Given the description of an element on the screen output the (x, y) to click on. 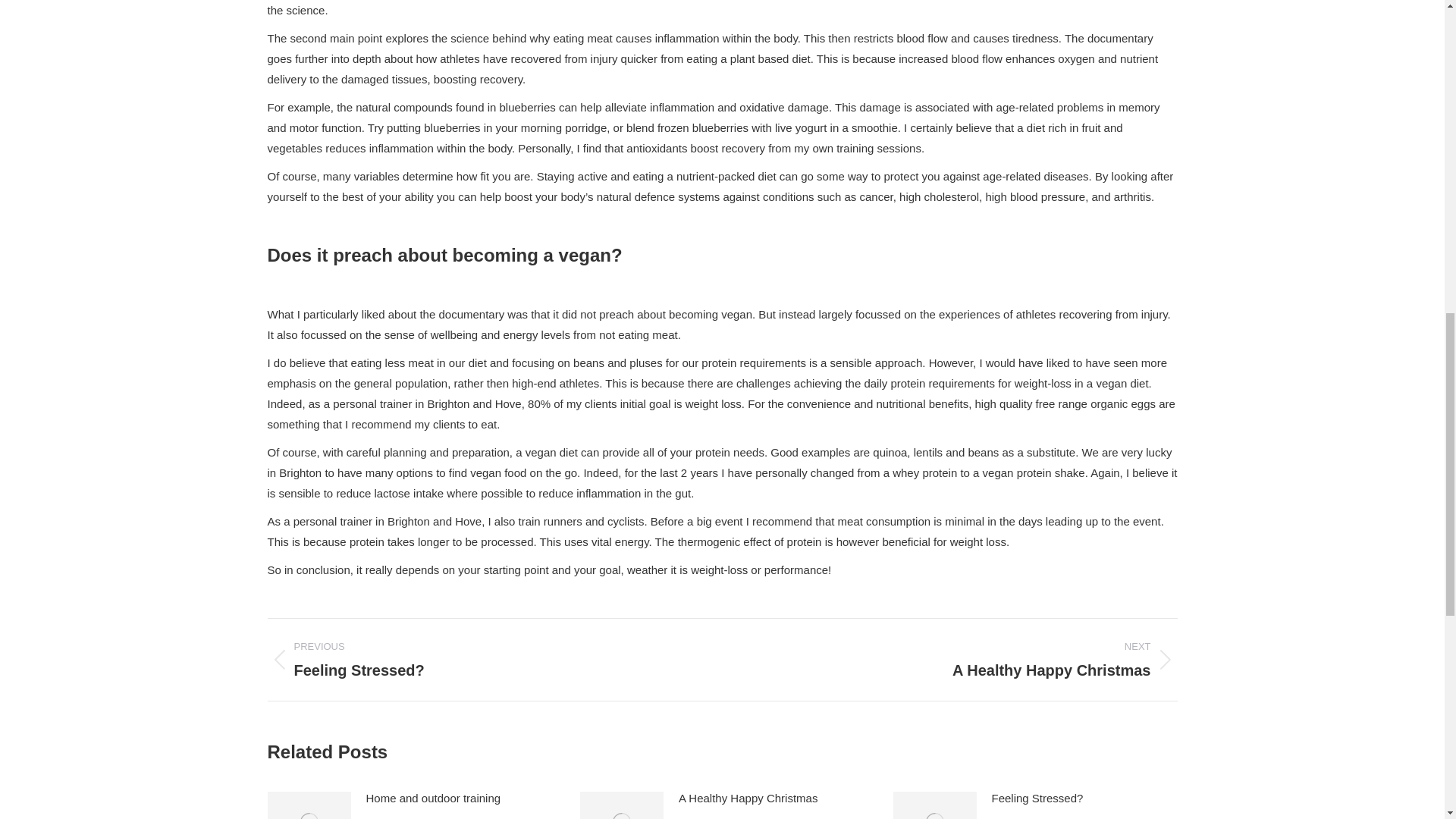
Home and outdoor training (482, 659)
A Healthy Happy Christmas (432, 797)
Feeling Stressed? (747, 797)
